Given the description of an element on the screen output the (x, y) to click on. 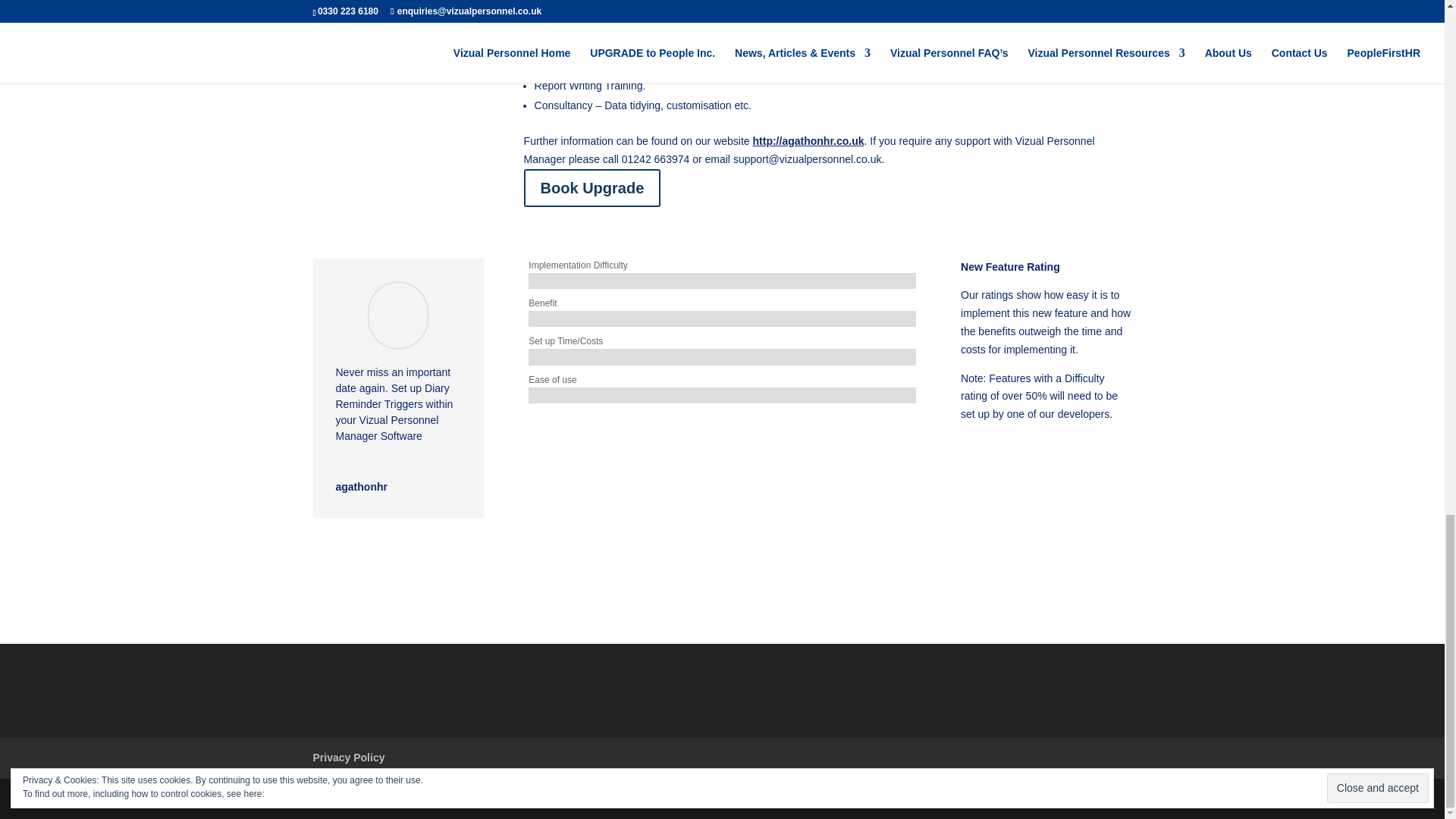
WordPress (551, 798)
Privacy Policy (348, 757)
Elegant Themes (414, 798)
Premium WordPress Themes (414, 798)
Book Upgrade (592, 187)
